Given the description of an element on the screen output the (x, y) to click on. 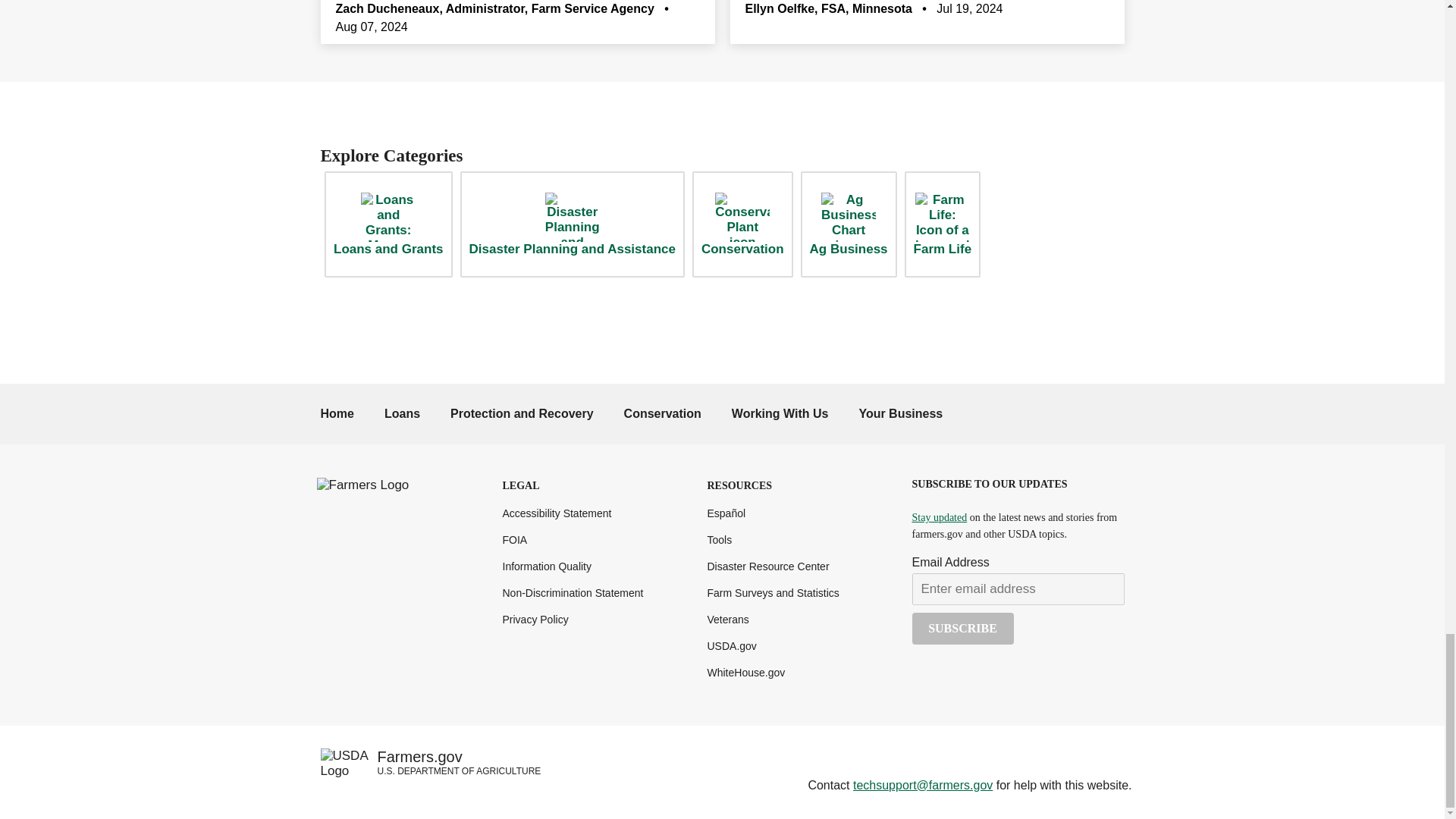
Official website of the White House (745, 672)
The United States Department of Agriculture (730, 645)
USDA loan options for farmers (402, 413)
Subscribe (962, 628)
Resources for military veterans (727, 619)
Get USDA resources specific to your operation (900, 413)
Busque nuestras traducciones o haga una solicitud (725, 512)
